Given the description of an element on the screen output the (x, y) to click on. 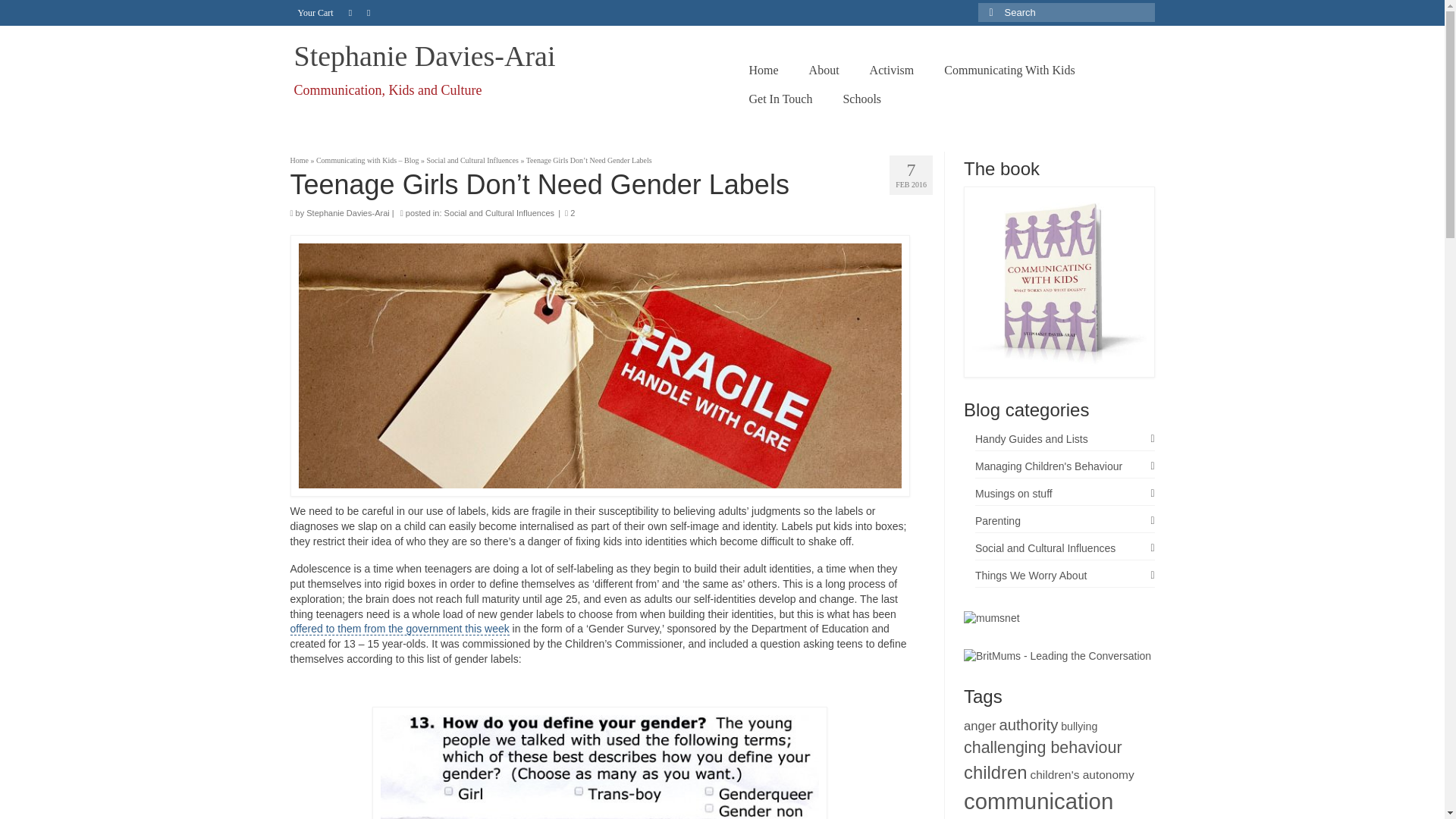
Schools (861, 99)
Social and Cultural Influences (499, 212)
offered to them from the government this week (398, 628)
Your Cart (314, 12)
Communicating With Kids (1008, 70)
Activism (892, 70)
Home (763, 70)
2 (569, 212)
Stephanie Davies-Arai (425, 56)
Home (298, 160)
Social and Cultural Influences (472, 160)
About (823, 70)
Get In Touch (780, 99)
Stephanie Davies-Arai (346, 212)
Stephanie Davies-Arai (425, 56)
